Given the description of an element on the screen output the (x, y) to click on. 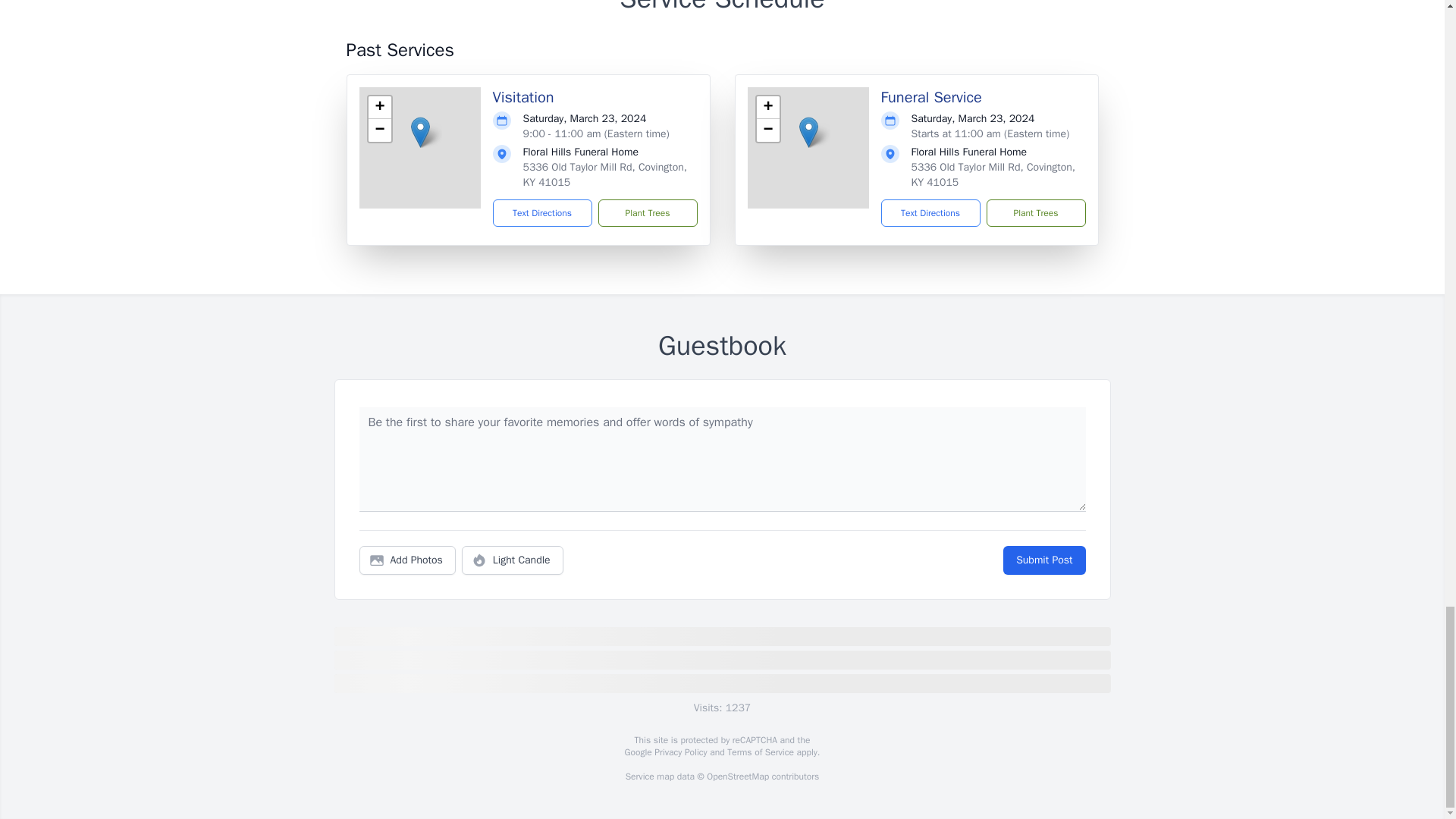
Light Candle (512, 560)
5336 Old Taylor Mill Rd, Covington, KY 41015 (993, 174)
Privacy Policy (679, 752)
Zoom in (767, 107)
Text Directions (929, 212)
Plant Trees (646, 212)
Add Photos (407, 560)
Zoom in (379, 107)
Plant Trees (1034, 212)
5336 Old Taylor Mill Rd, Covington, KY 41015 (604, 174)
Text Directions (542, 212)
Zoom out (767, 129)
Zoom out (379, 129)
Submit Post (1043, 560)
